Given the description of an element on the screen output the (x, y) to click on. 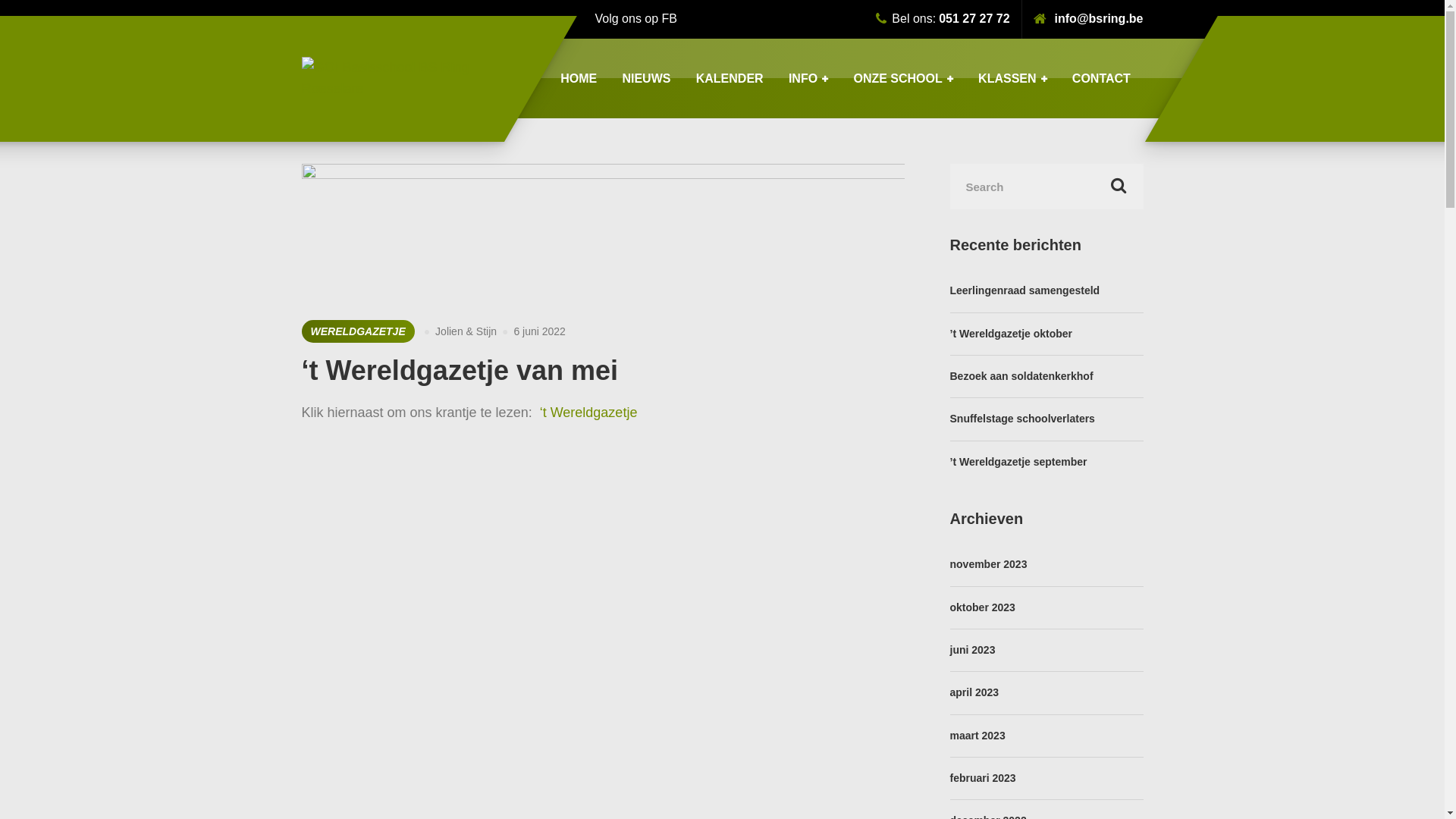
ONZE SCHOOL Element type: text (903, 78)
CONTACT Element type: text (1100, 78)
Leerlingenraad samengesteld Element type: text (1024, 290)
oktober 2023 Element type: text (981, 607)
Snuffelstage schoolverlaters Element type: text (1021, 418)
juni 2023 Element type: text (971, 649)
HOME Element type: text (577, 78)
info@bsring.be Element type: text (1088, 19)
april 2023 Element type: text (973, 692)
WERELDGAZETJE Element type: text (357, 331)
Volg ons op FB Element type: text (634, 19)
INFO Element type: text (807, 78)
NIEUWS Element type: text (646, 78)
KLASSEN Element type: text (1012, 78)
6 juni 2022 Element type: text (539, 331)
Bezoek aan soldatenkerkhof Element type: text (1020, 375)
februari 2023 Element type: text (982, 777)
november 2023 Element type: text (987, 563)
KALENDER Element type: text (729, 78)
maart 2023 Element type: text (976, 735)
